Given the description of an element on the screen output the (x, y) to click on. 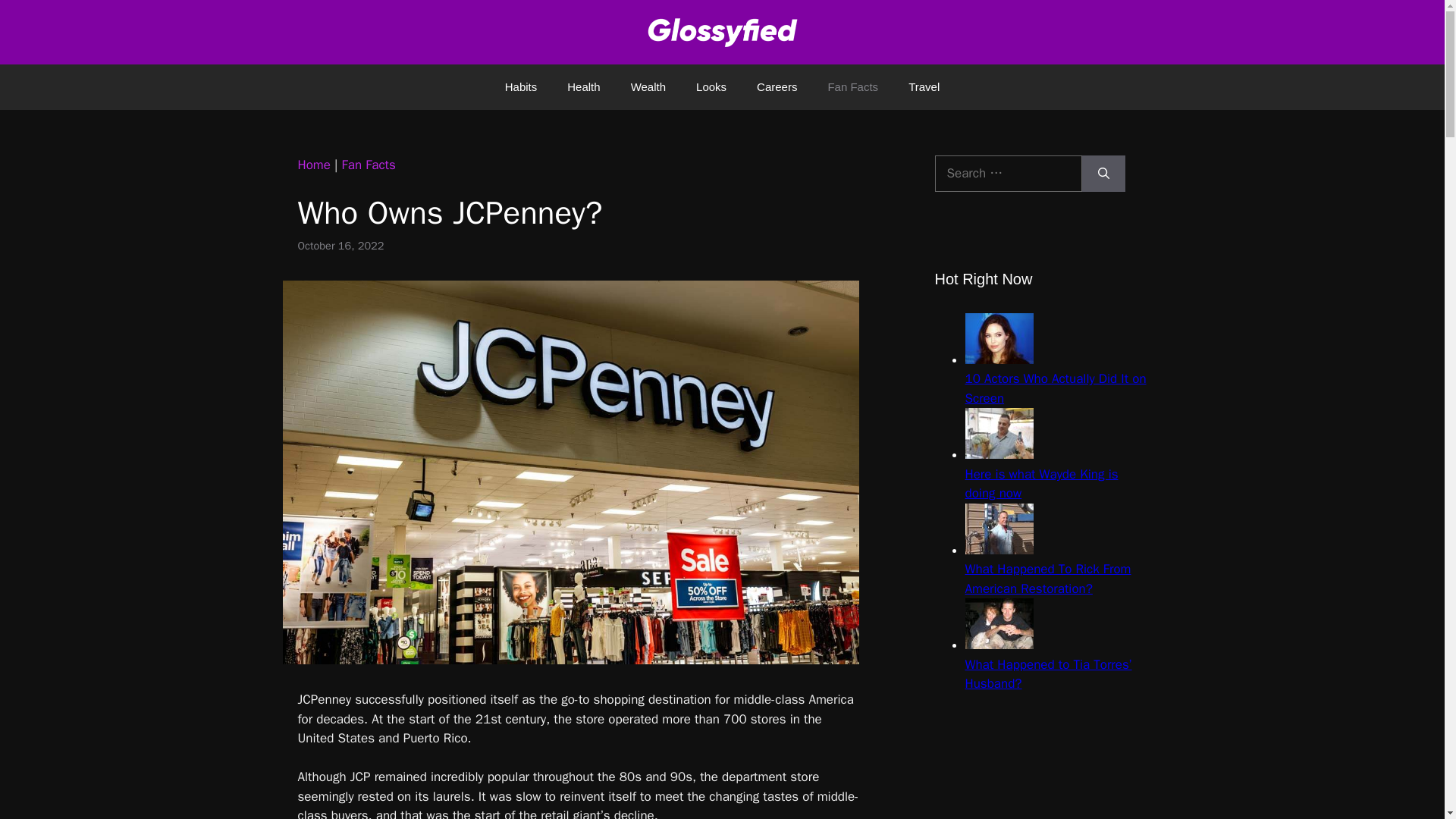
Fan Facts (369, 164)
Home (313, 164)
Search for: (1007, 173)
Careers (776, 86)
Fan Facts (852, 86)
Wealth (648, 86)
Looks (711, 86)
Travel (924, 86)
Health (582, 86)
Habits (521, 86)
